Given the description of an element on the screen output the (x, y) to click on. 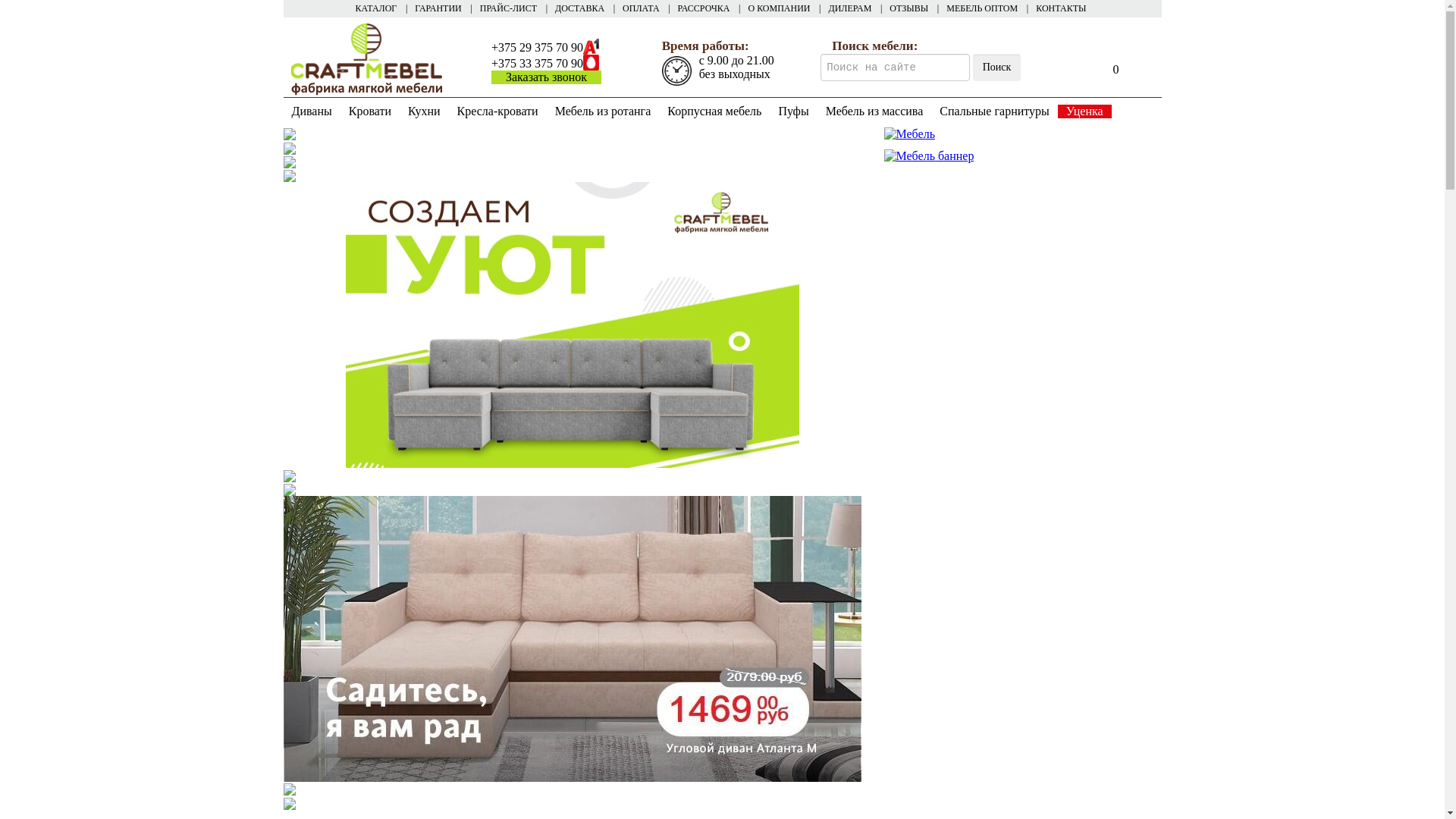
0 Element type: text (1115, 67)
+375 33 375 70 90 Element type: text (537, 62)
+375 29 375 70 90 Element type: text (537, 46)
